Given the description of an element on the screen output the (x, y) to click on. 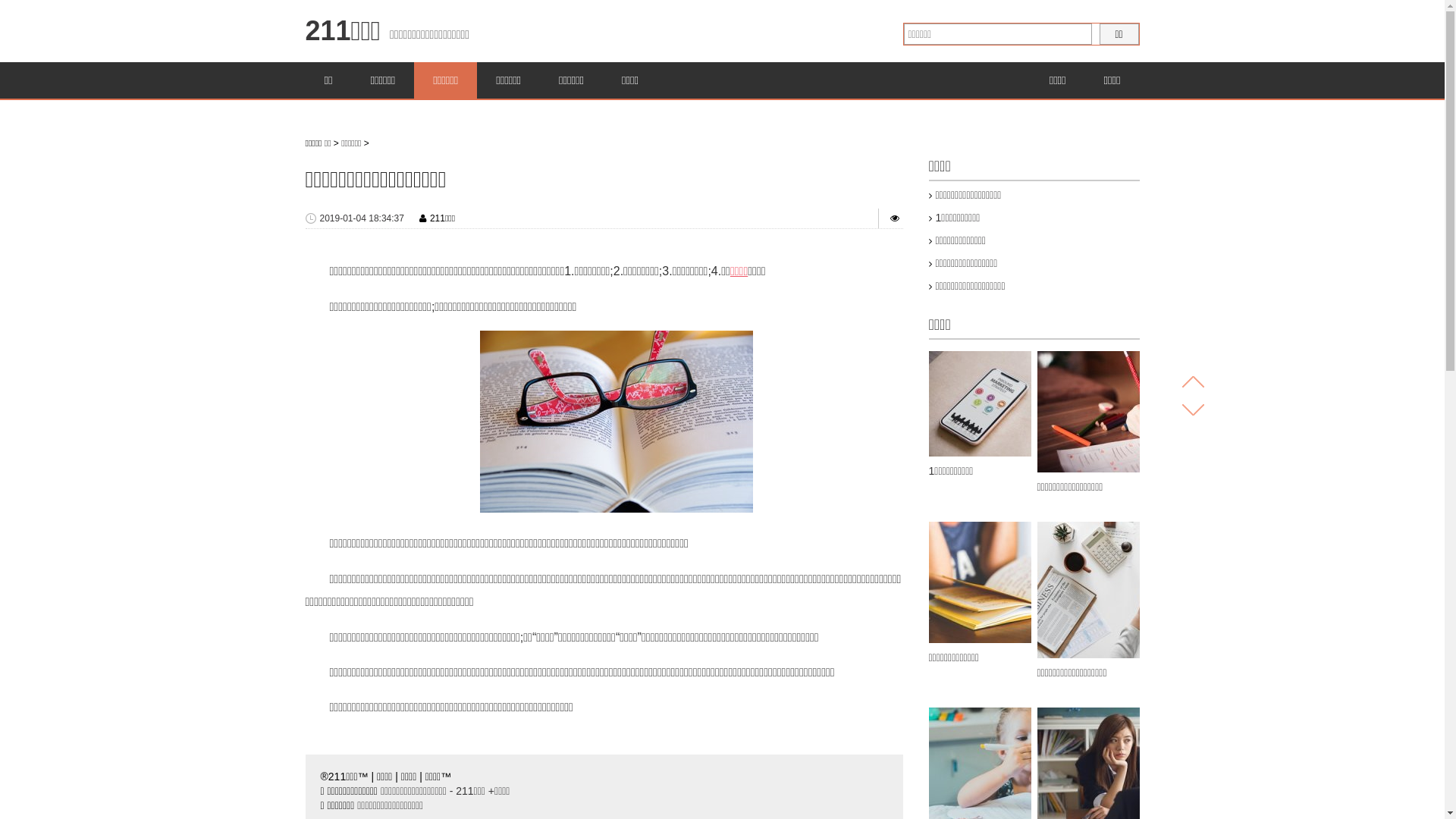
2019-01-04 18:34:37 Element type: text (362, 218)
